Given the description of an element on the screen output the (x, y) to click on. 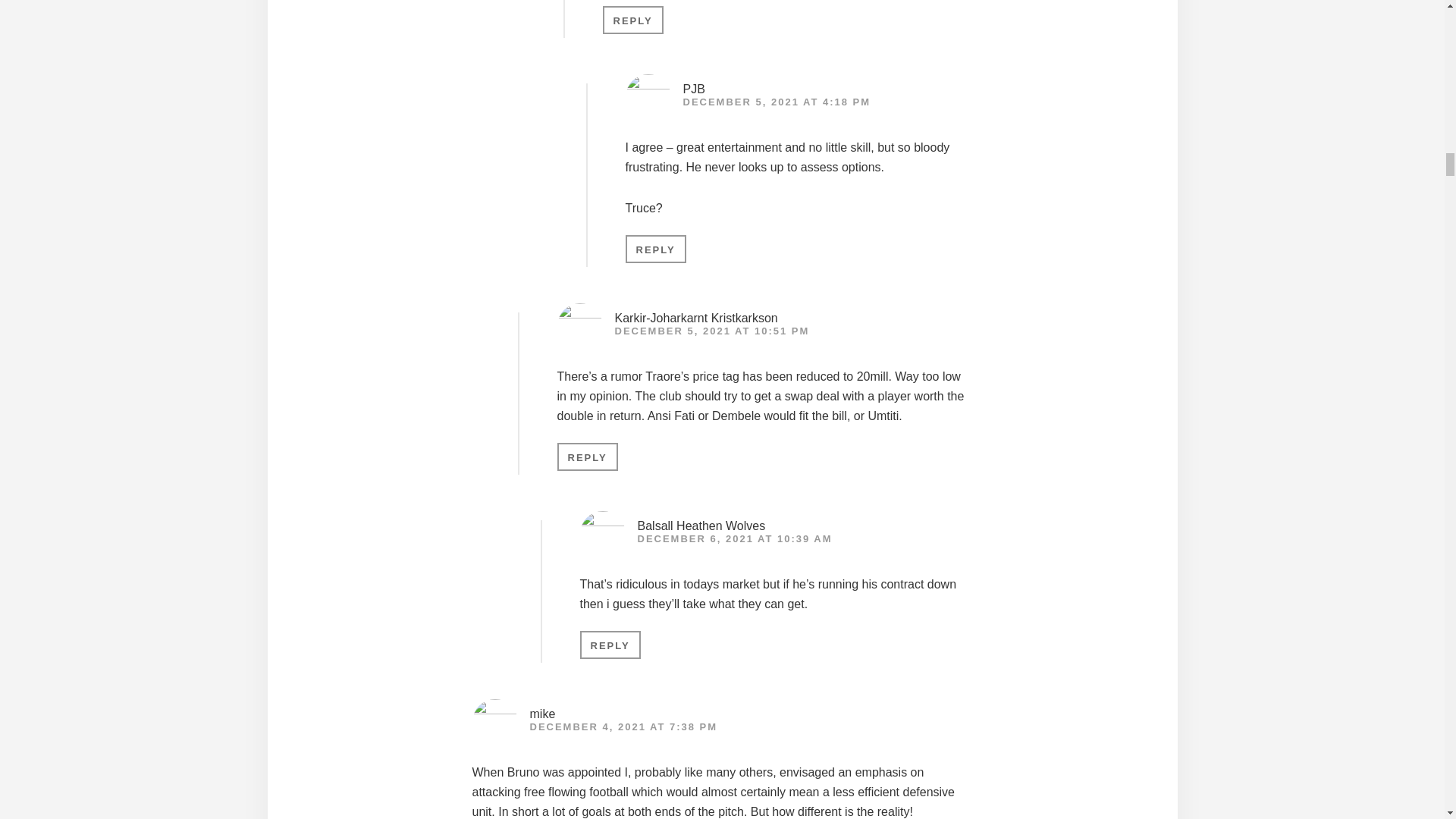
DECEMBER 5, 2021 AT 4:18 PM (776, 101)
REPLY (632, 19)
DECEMBER 5, 2021 AT 10:51 PM (711, 330)
REPLY (654, 248)
